Given the description of an element on the screen output the (x, y) to click on. 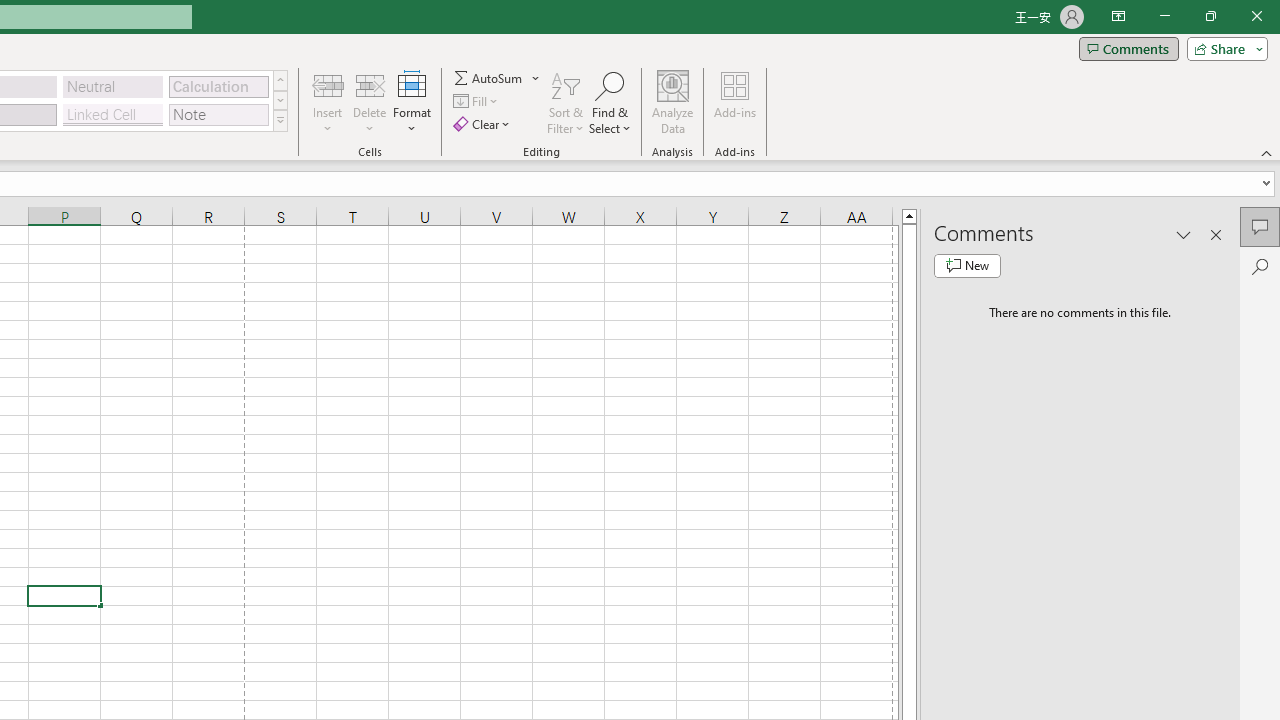
Comments (1260, 226)
More Options (536, 78)
Task Pane Options (1183, 234)
Insert (328, 102)
Note (218, 114)
Delete Cells... (369, 84)
Row Down (280, 100)
Calculation (218, 86)
Row up (280, 79)
AutoSum (497, 78)
Insert Cells (328, 84)
Class: NetUIImage (280, 120)
Sort & Filter (566, 102)
Ribbon Display Options (1118, 16)
